Given the description of an element on the screen output the (x, y) to click on. 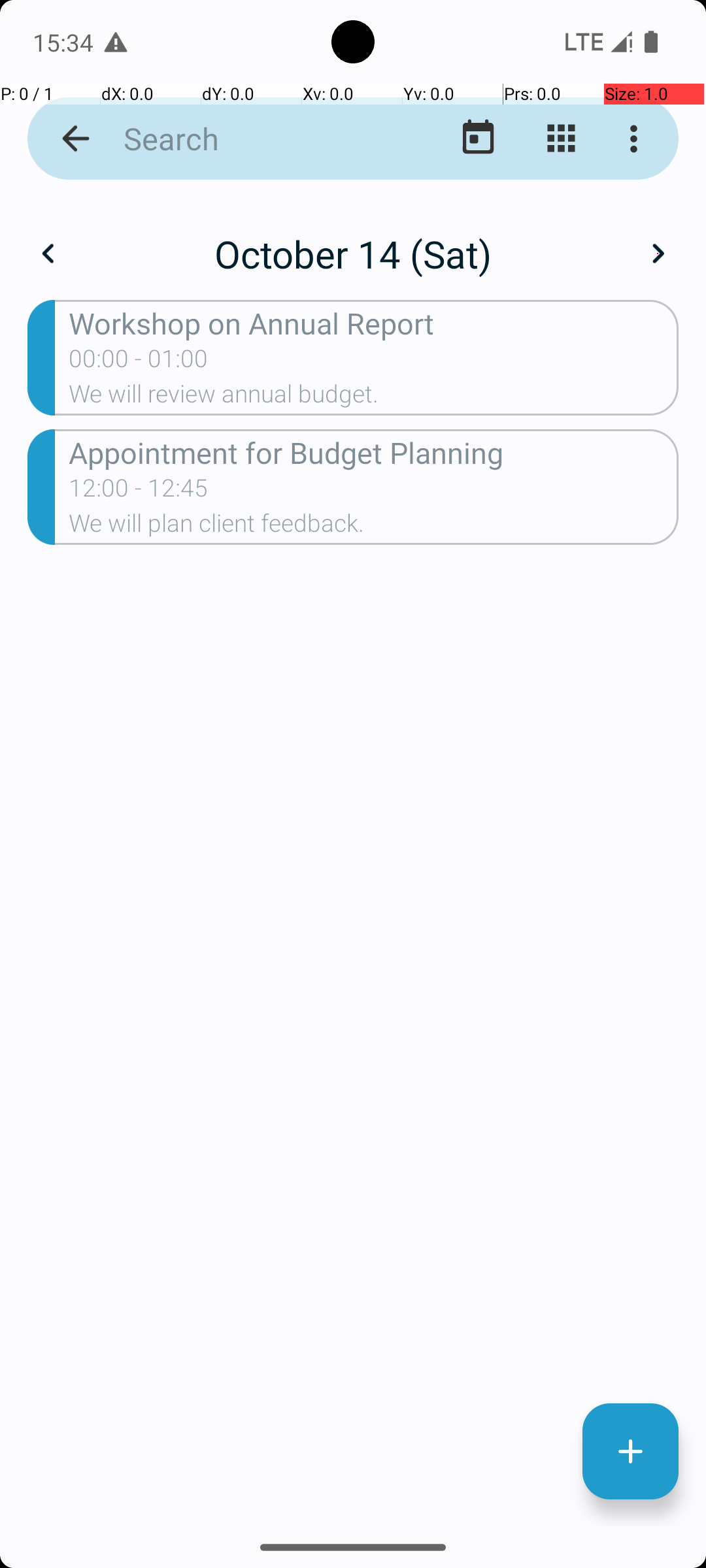
Go to today Element type: android.widget.Button (477, 138)
October 14 (Sat) Element type: android.widget.TextView (352, 253)
October Element type: android.widget.TextView (352, 239)
Workshop on Annual Report Element type: android.widget.TextView (373, 321)
00:00 - 01:00 Element type: android.widget.TextView (137, 362)
We will review annual budget. Element type: android.widget.TextView (373, 397)
Appointment for Budget Planning Element type: android.widget.TextView (373, 451)
12:00 - 12:45 Element type: android.widget.TextView (137, 491)
We will plan client feedback. Element type: android.widget.TextView (373, 526)
